Given the description of an element on the screen output the (x, y) to click on. 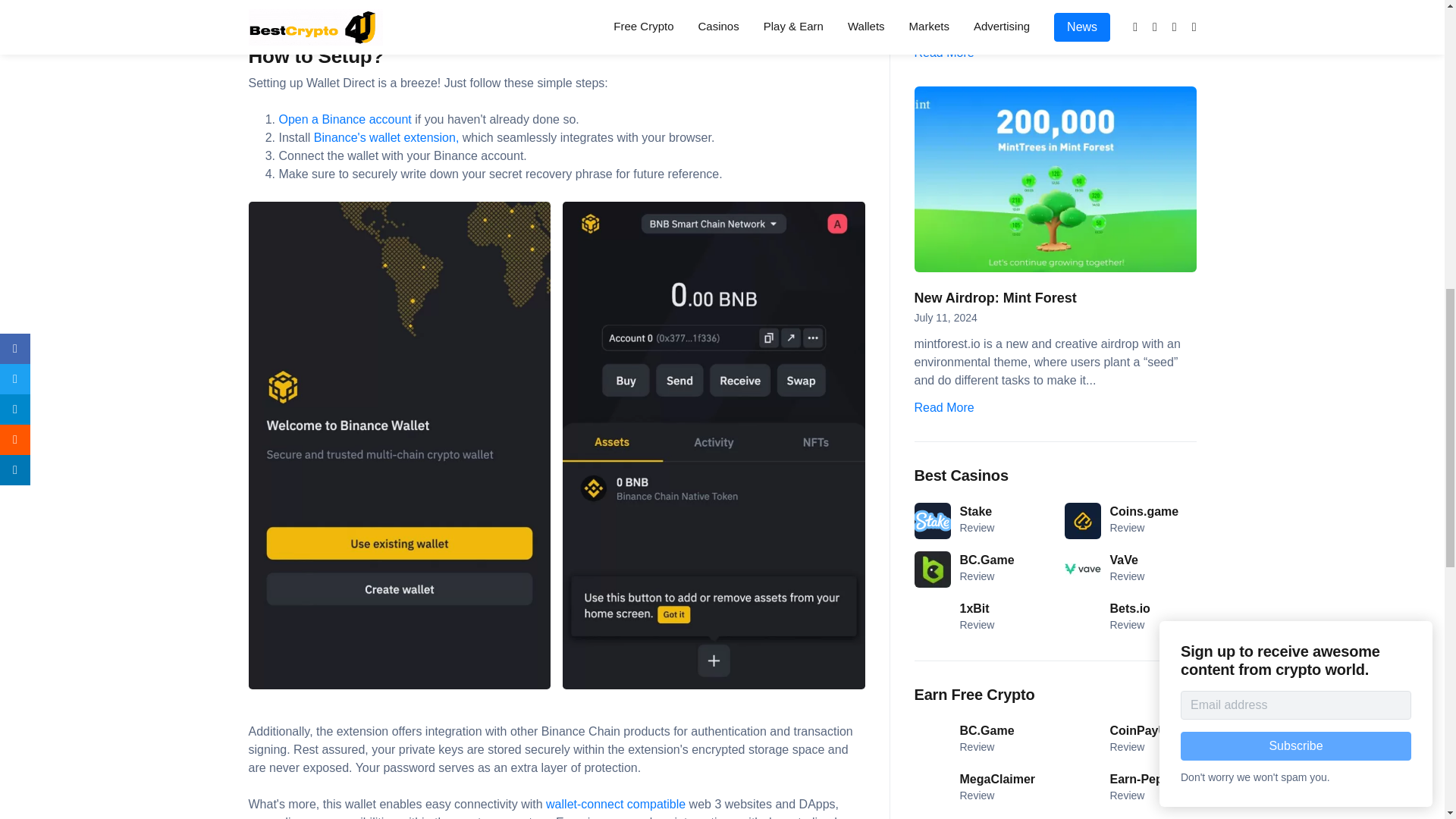
Stake (975, 511)
Review (1126, 527)
wallet-connect compatible (615, 803)
Review (976, 527)
Binance's wallet extension, (387, 137)
Open a Binance account (346, 119)
Review (976, 576)
Coins.game (1144, 511)
BC.Game (986, 559)
